Given the description of an element on the screen output the (x, y) to click on. 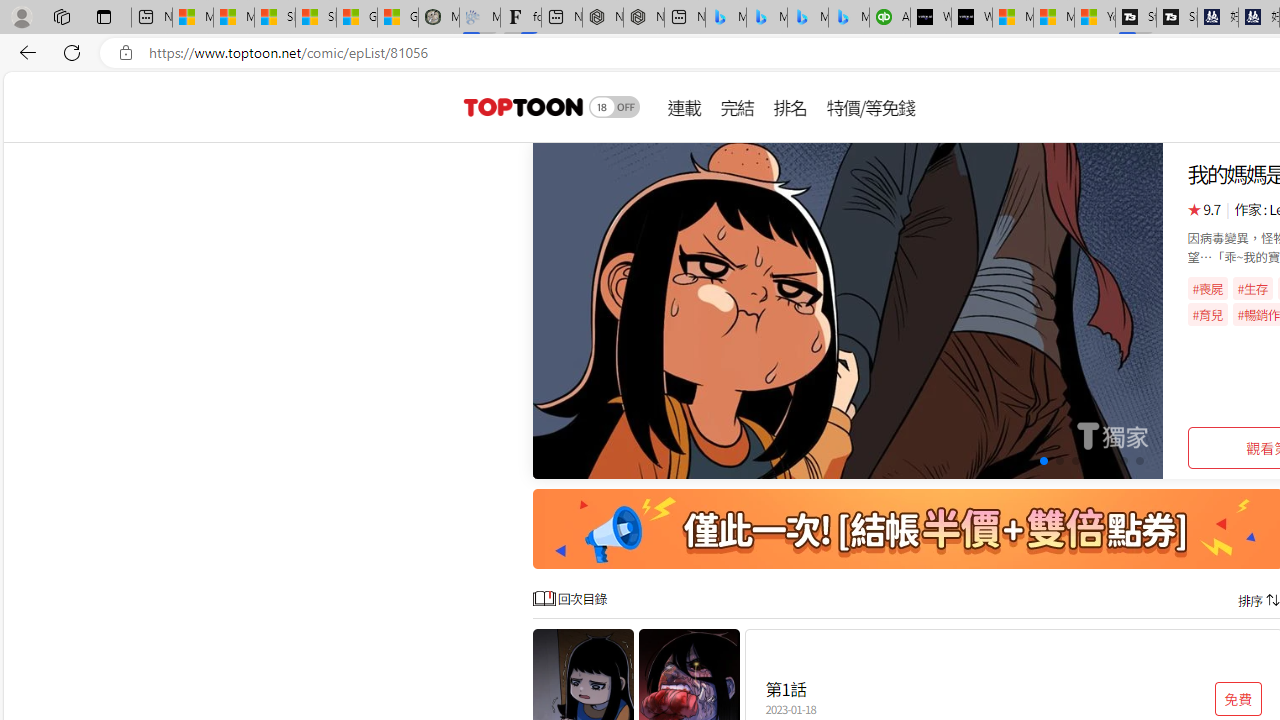
Shanghai, China weather forecast | Microsoft Weather (315, 17)
Microsoft Bing Travel - Stays in Bangkok, Bangkok, Thailand (767, 17)
Go to slide 6 (1075, 461)
Class: swiper-slide swiper-slide-duplicate (847, 310)
Gilma and Hector both pose tropical trouble for Hawaii (397, 17)
Streaming Coverage | T3 (1135, 17)
